Given the description of an element on the screen output the (x, y) to click on. 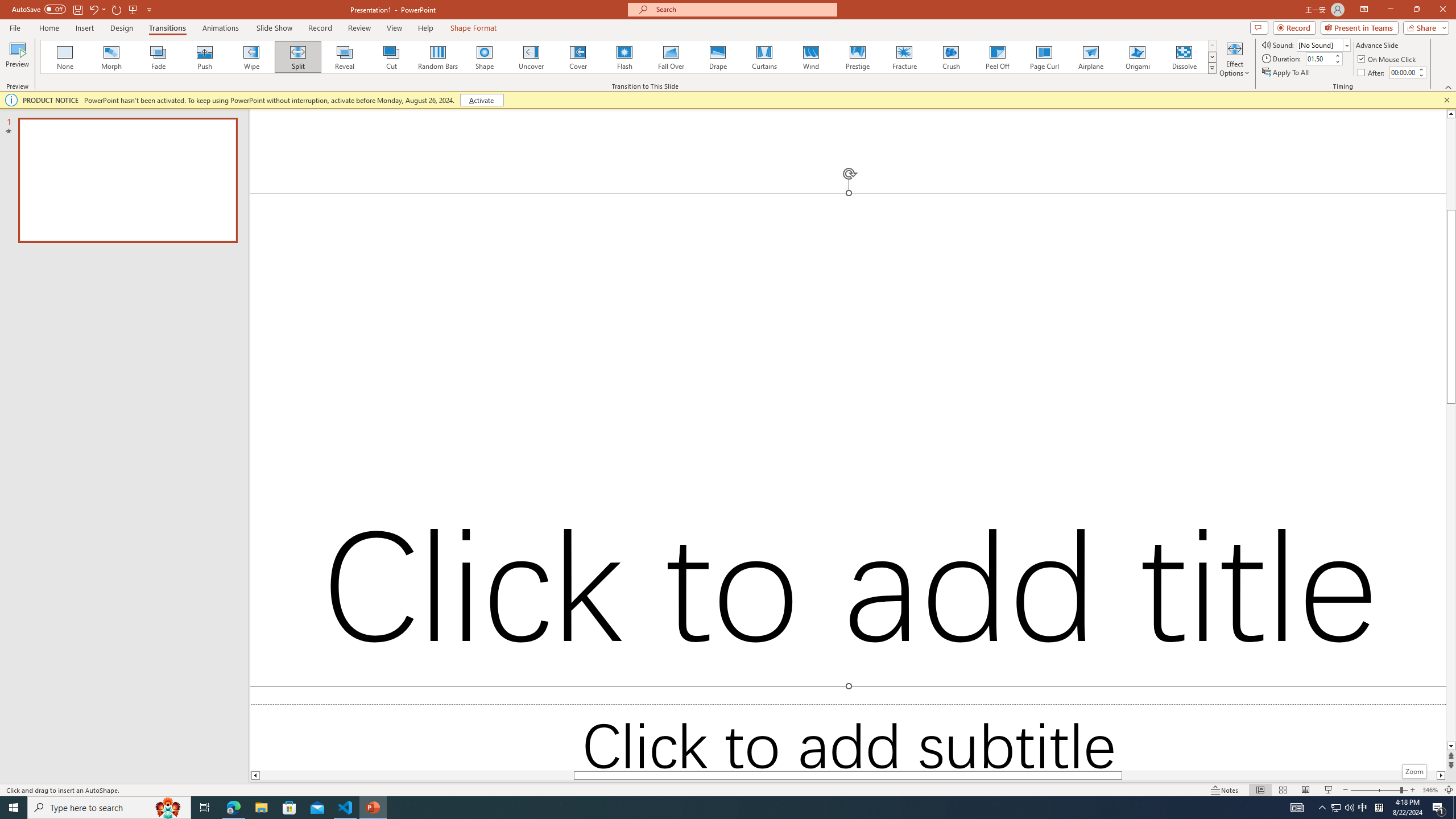
Origami (1136, 56)
Push (205, 56)
Duration (1319, 58)
After (1403, 72)
After (1372, 72)
Close this message (1446, 99)
None (65, 56)
Wind (810, 56)
